Given the description of an element on the screen output the (x, y) to click on. 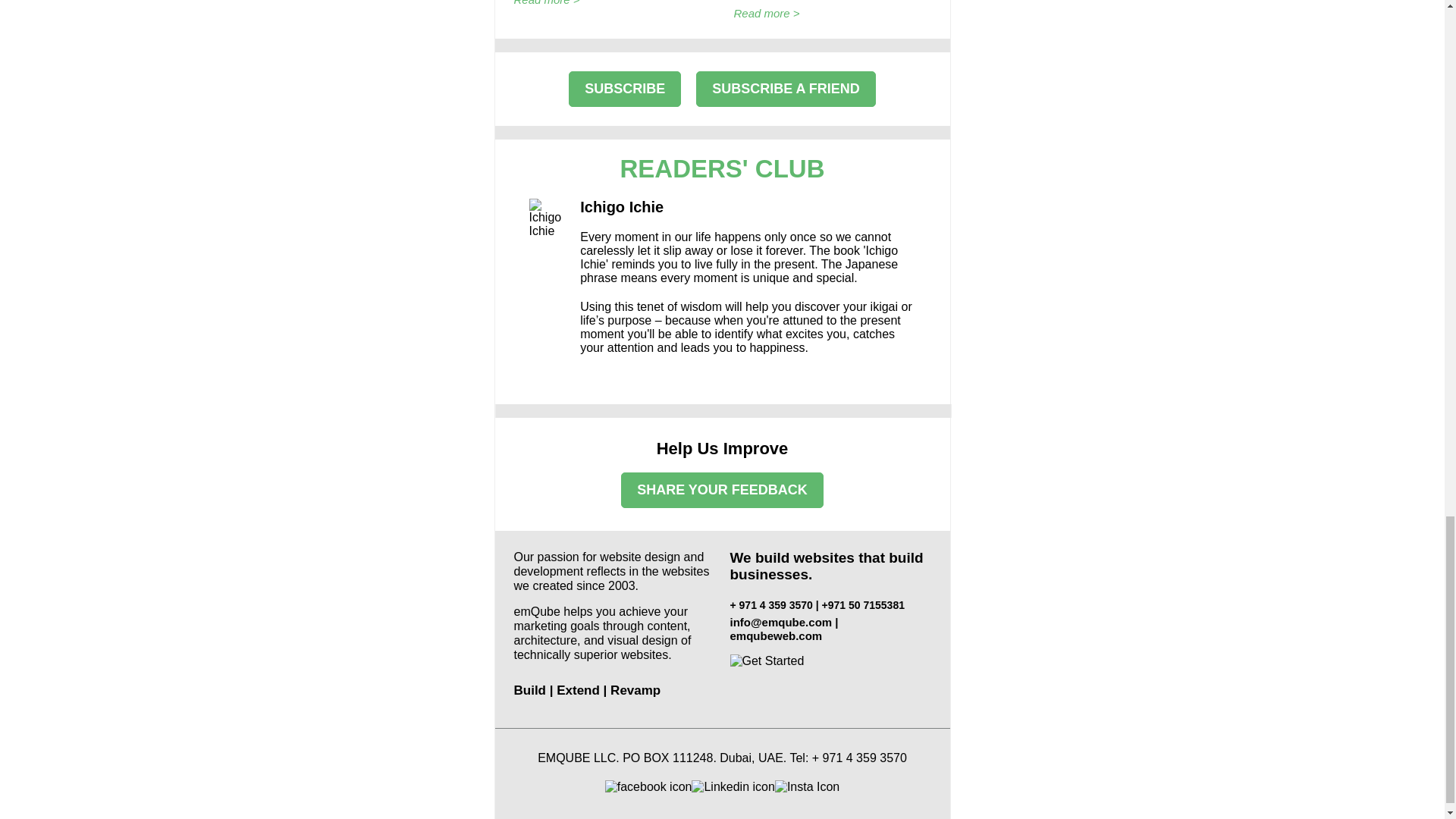
SUBSCRIBE (625, 89)
emqubeweb.com (775, 635)
SUBSCRIBE A FRIEND (785, 89)
SHARE YOUR FEEDBACK (722, 489)
